Given the description of an element on the screen output the (x, y) to click on. 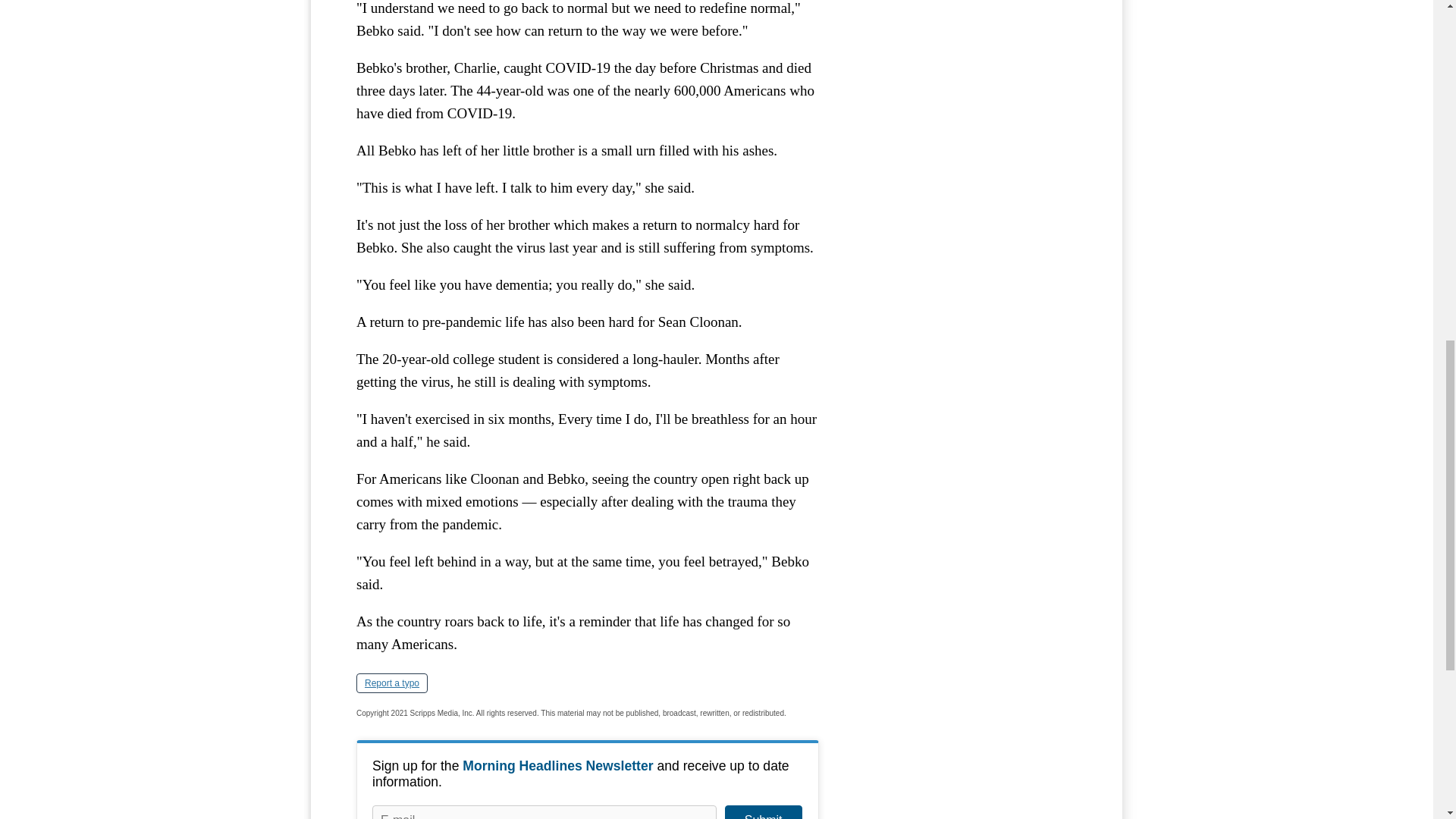
Submit (763, 812)
